Given the description of an element on the screen output the (x, y) to click on. 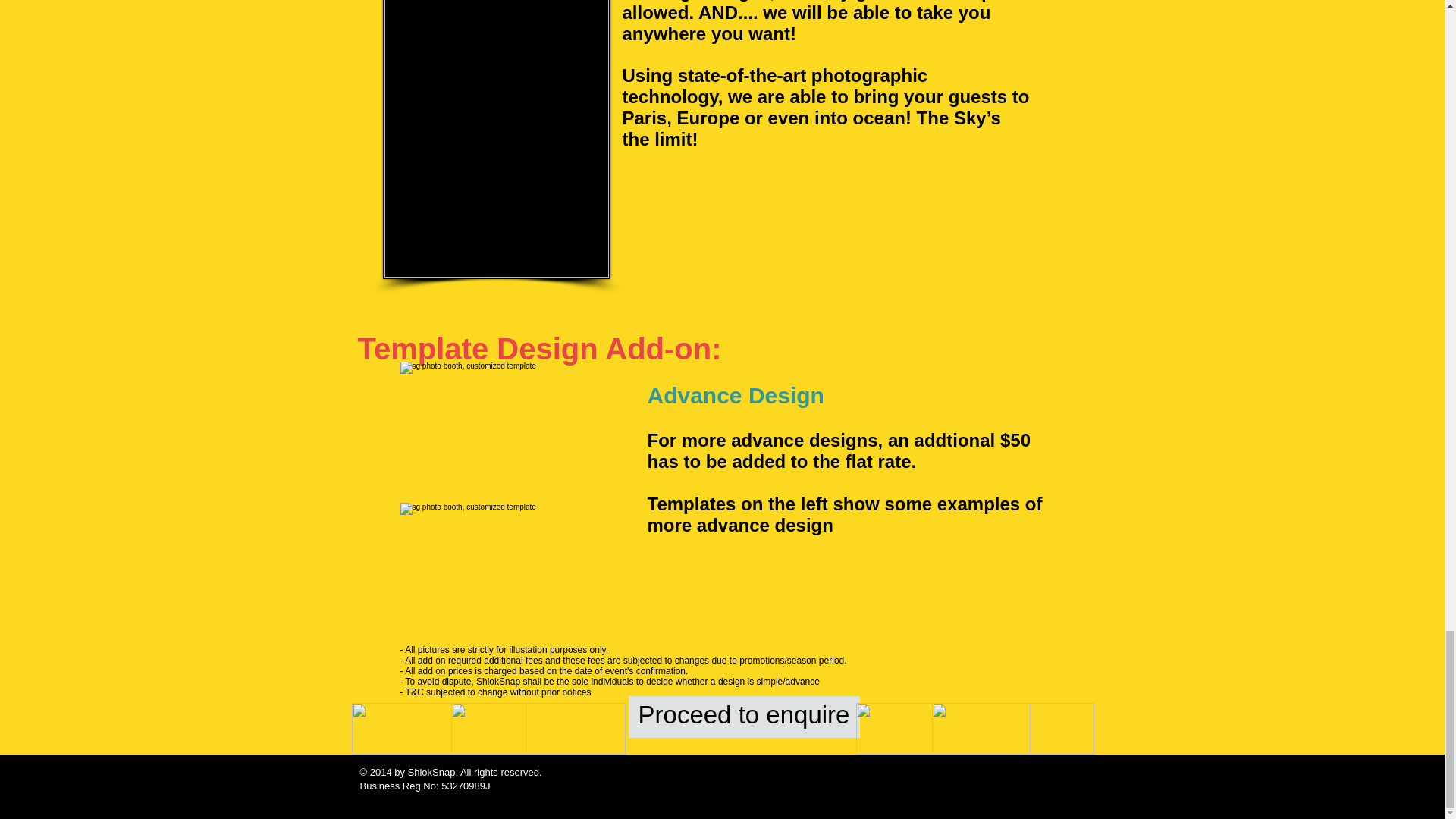
Proceed to enquire (743, 716)
photo booth (505, 431)
photo booth (505, 572)
